Given the description of an element on the screen output the (x, y) to click on. 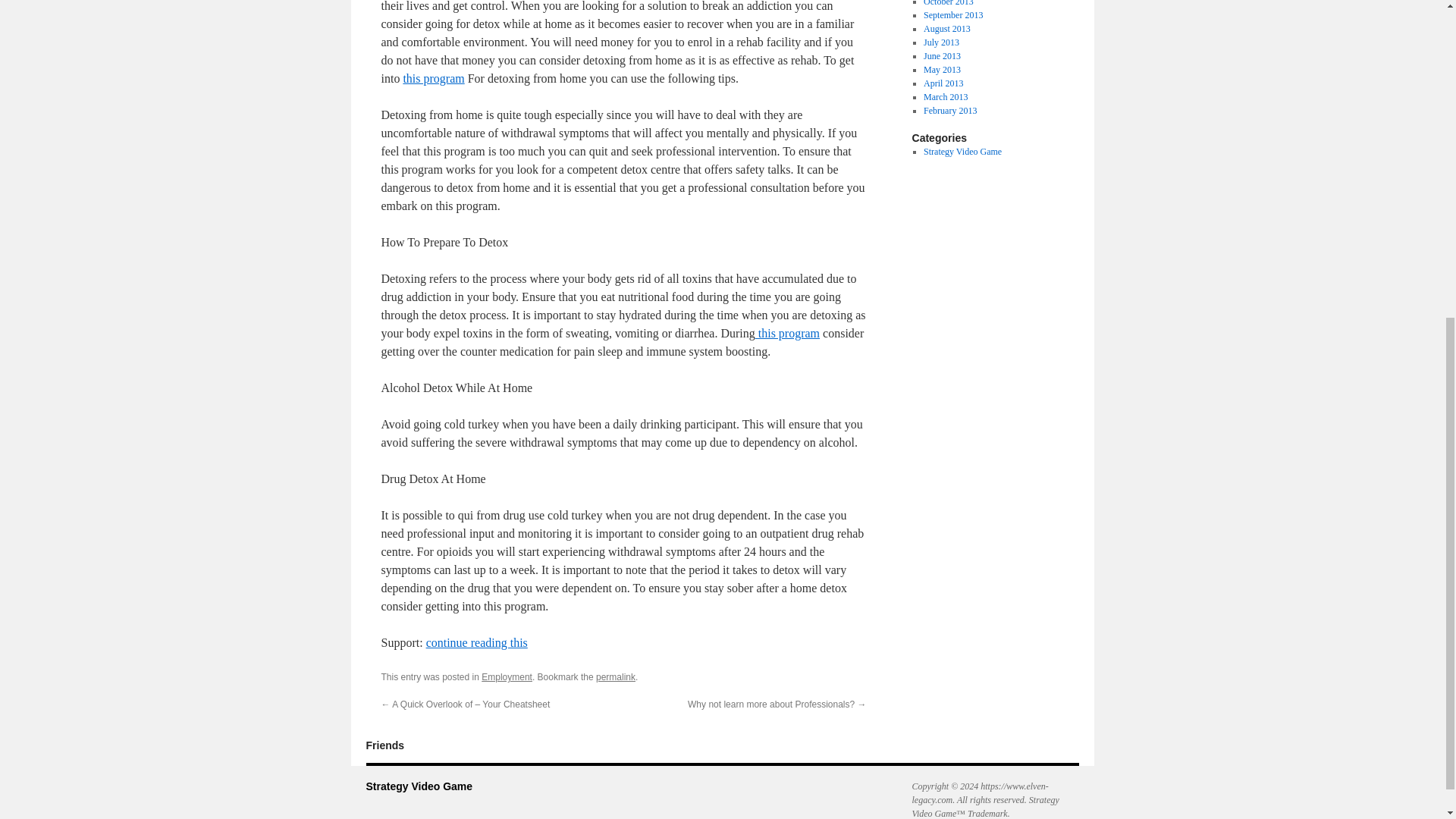
September 2013 (952, 14)
Permalink to Smart Ideas:  Revisited (614, 676)
April 2013 (942, 82)
View all posts filed under Strategy Video Game (962, 151)
February 2013 (949, 110)
Strategy Video Game (418, 786)
this program (433, 78)
this program (787, 332)
July 2013 (941, 41)
May 2013 (941, 69)
August 2013 (947, 28)
permalink (614, 676)
March 2013 (945, 96)
June 2013 (941, 55)
Strategy Video Game (418, 786)
